Given the description of an element on the screen output the (x, y) to click on. 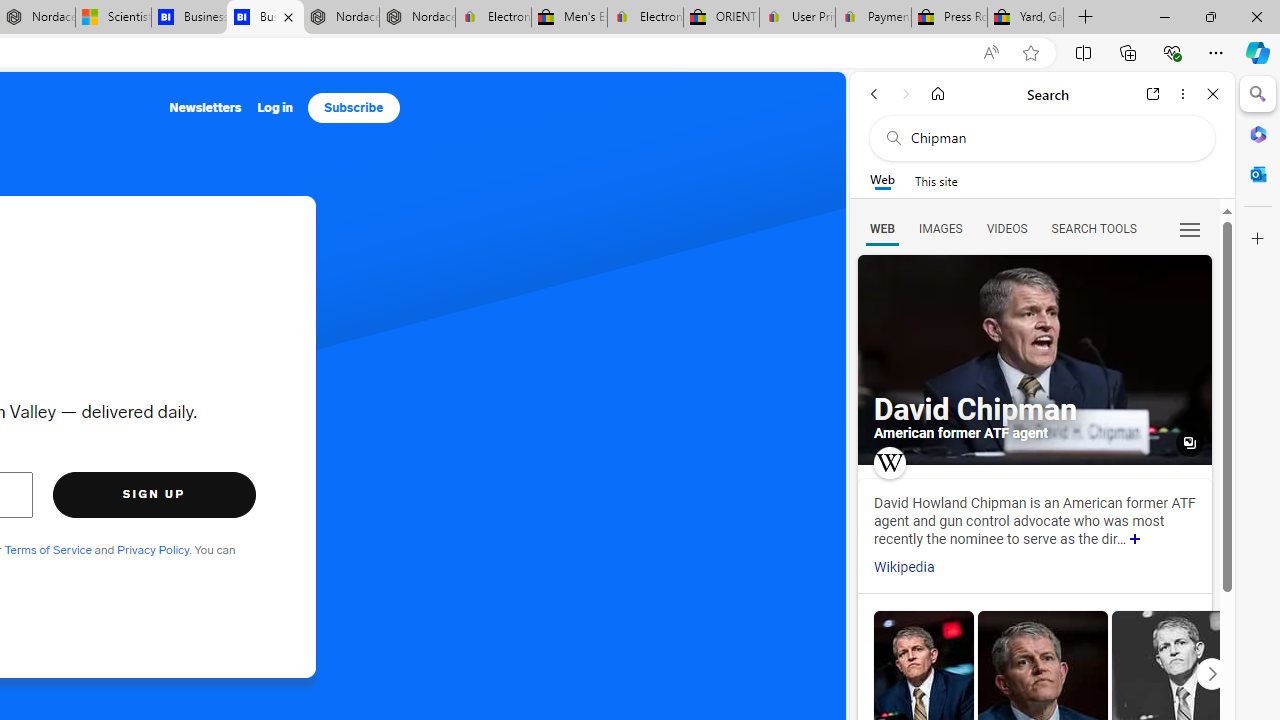
All images (1034, 359)
Terms of Service (47, 549)
Privacy Policy (152, 549)
SIGN UP (154, 493)
